Given the description of an element on the screen output the (x, y) to click on. 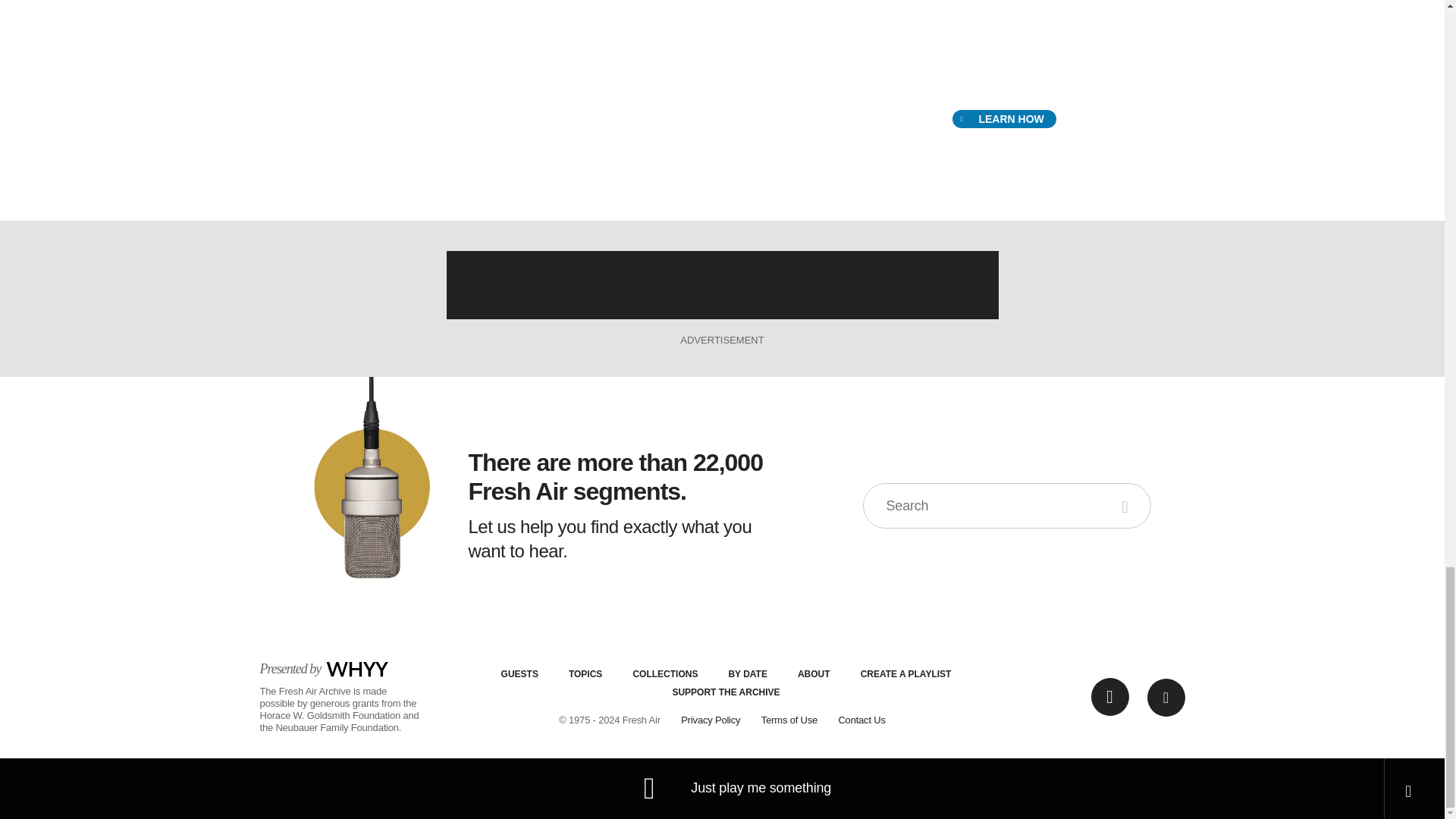
3rd party ad content (721, 284)
Search (1127, 505)
